Given the description of an element on the screen output the (x, y) to click on. 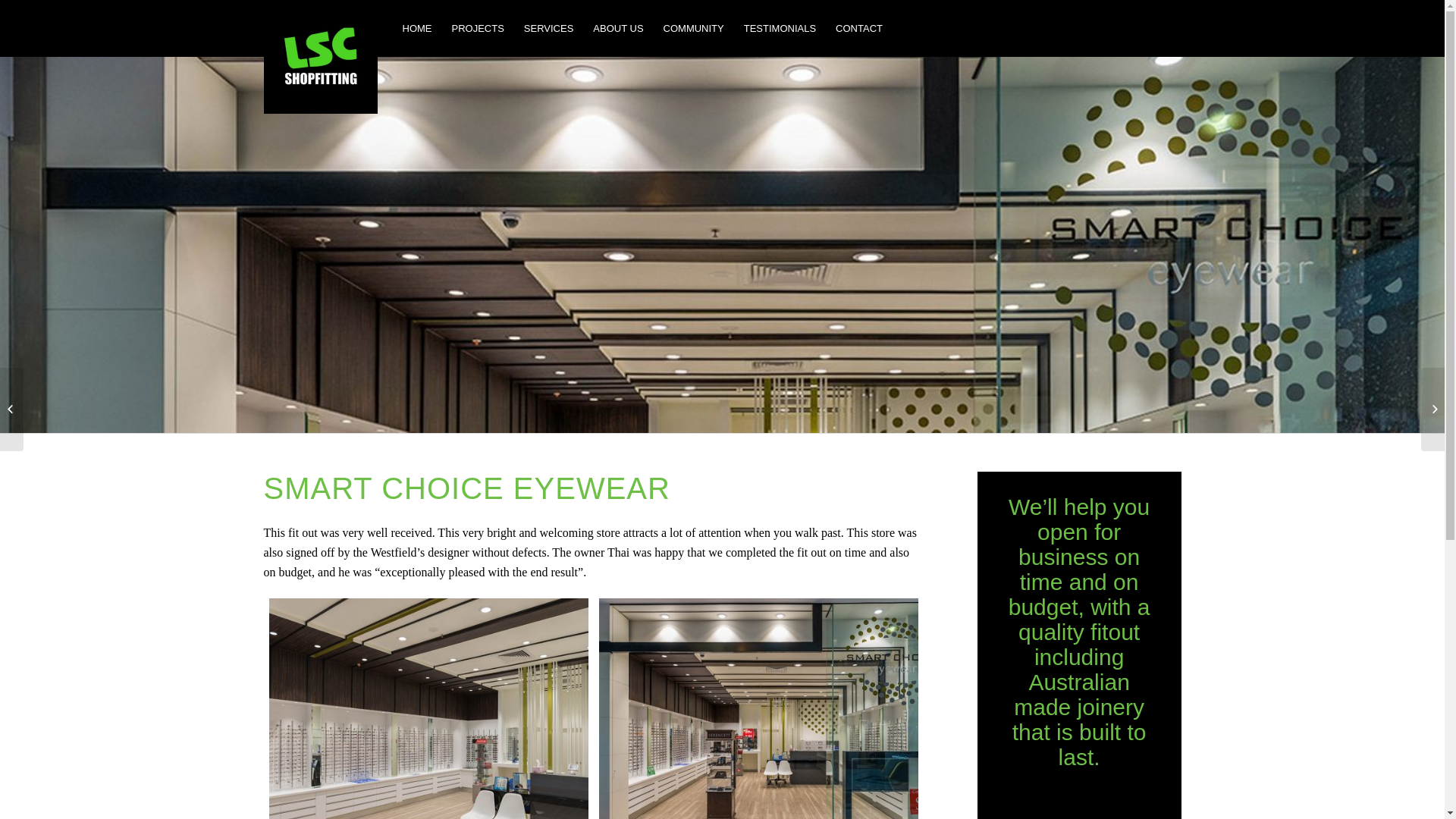
CONTACT Element type: text (858, 28)
COMMUNITY Element type: text (693, 28)
TESTIMONIALS Element type: text (779, 28)
SERVICES Element type: text (548, 28)
HOME Element type: text (417, 28)
Smart-choice-eye-wear Element type: hover (722, 244)
ABOUT US Element type: text (617, 28)
PROJECTS Element type: text (477, 28)
